Given the description of an element on the screen output the (x, y) to click on. 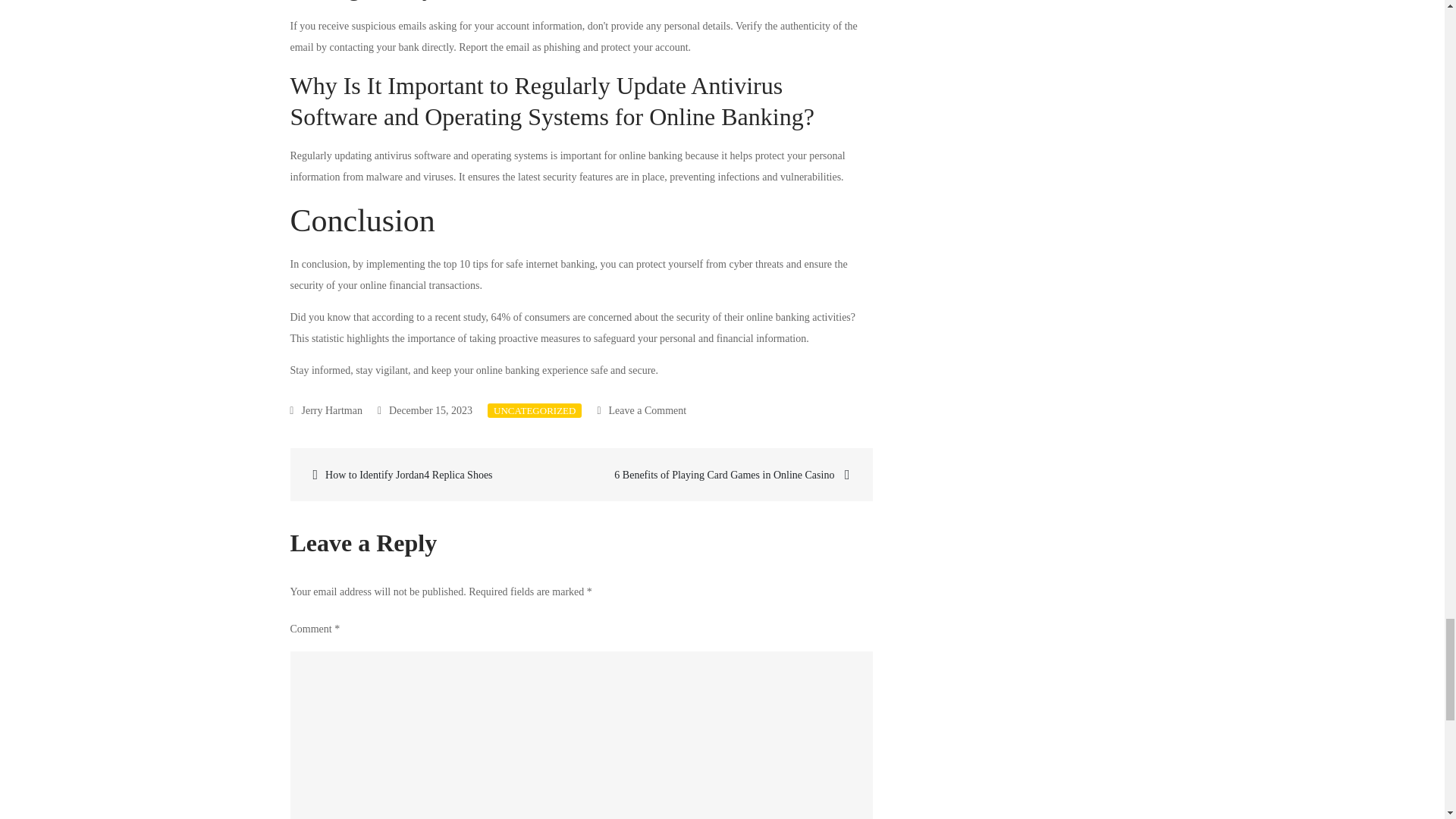
December 15, 2023 (424, 410)
6 Benefits of Playing Card Games in Online Casino  (724, 474)
UNCATEGORIZED (533, 410)
How to Identify Jordan4 Replica Shoes (437, 474)
Jerry Hartman (325, 410)
